Given the description of an element on the screen output the (x, y) to click on. 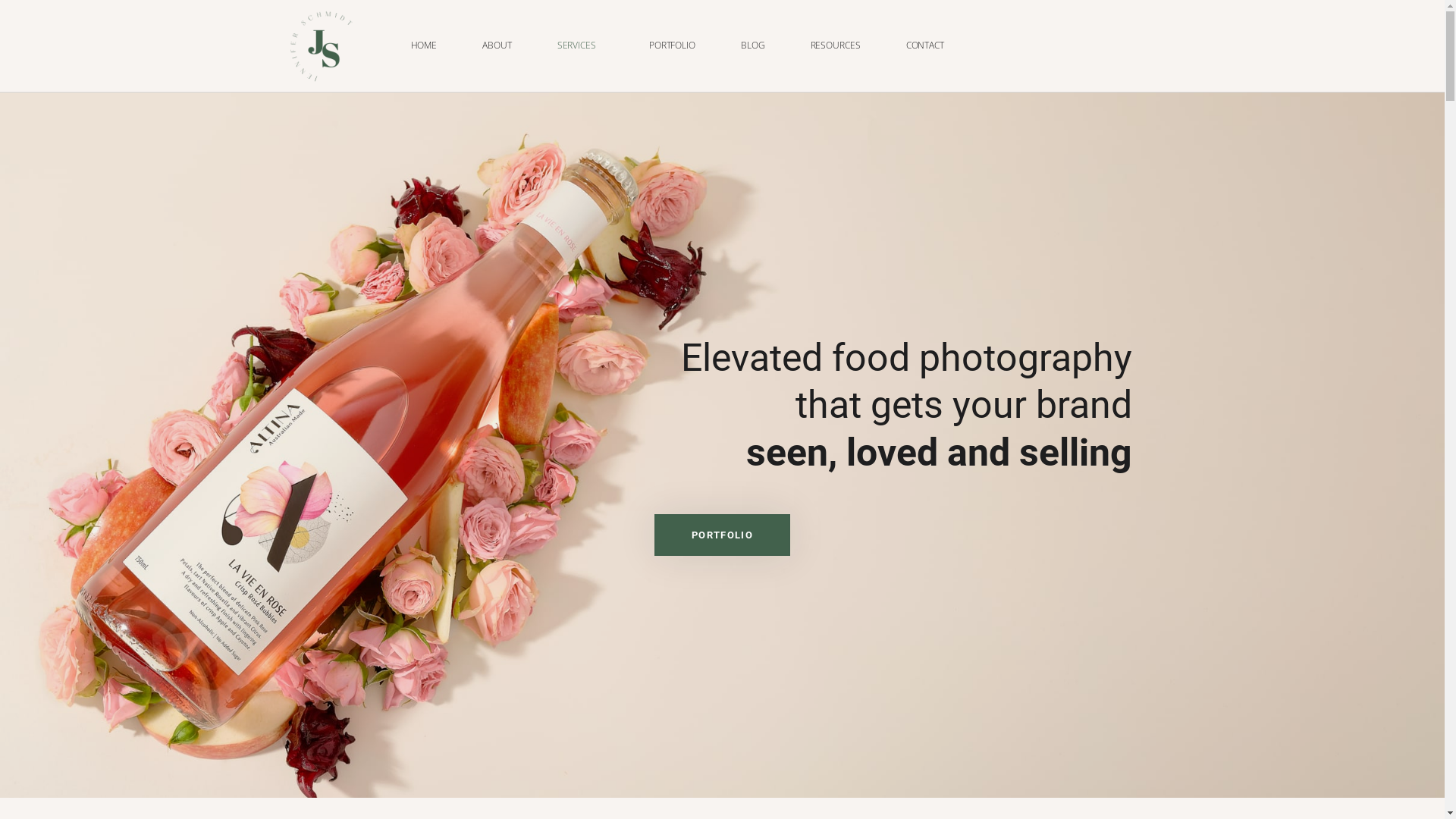
CONTACT Element type: text (924, 45)
RESOURCES Element type: text (835, 45)
SERVICES Element type: text (580, 45)
PORTFOLIO Element type: text (671, 45)
ABOUT Element type: text (496, 45)
BLOG Element type: text (752, 45)
HOME Element type: text (423, 45)
PORTFOLIO Element type: text (722, 534)
